Given the description of an element on the screen output the (x, y) to click on. 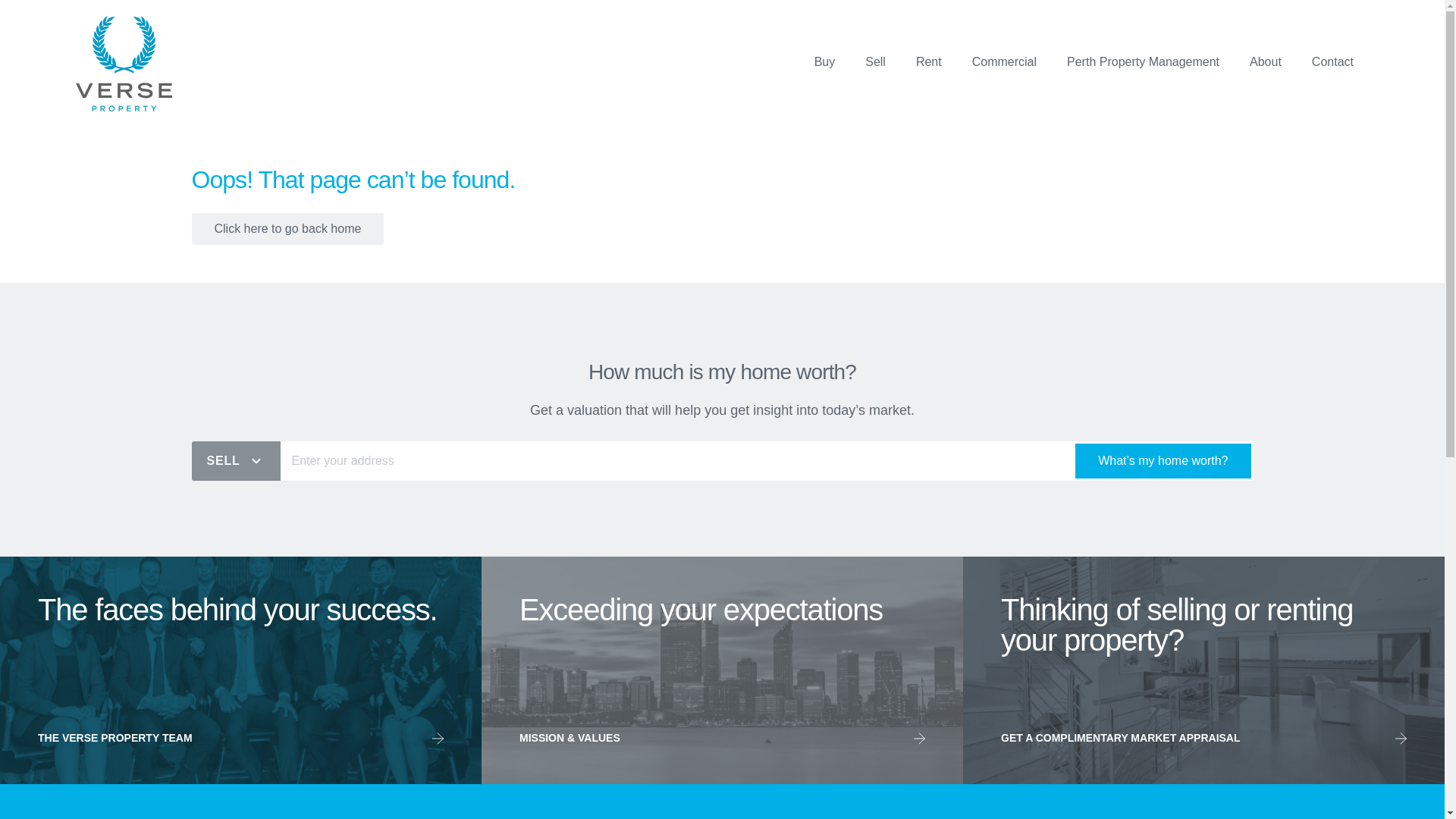
Contact (1332, 62)
Perth Property Management (1143, 62)
Click here to go back home (287, 228)
About (1265, 62)
Commercial (1004, 62)
